Given the description of an element on the screen output the (x, y) to click on. 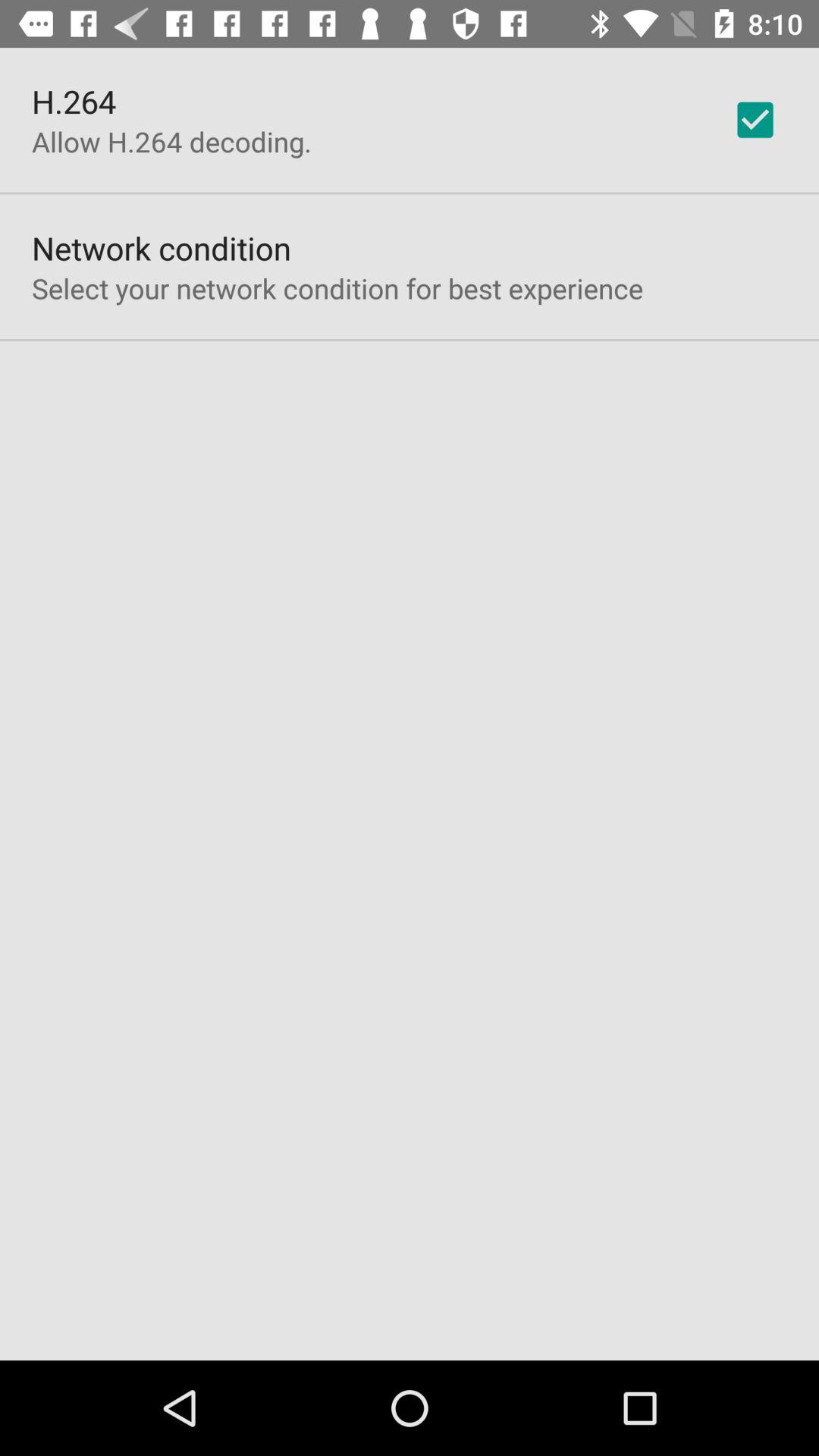
turn off item below the network condition item (337, 288)
